Given the description of an element on the screen output the (x, y) to click on. 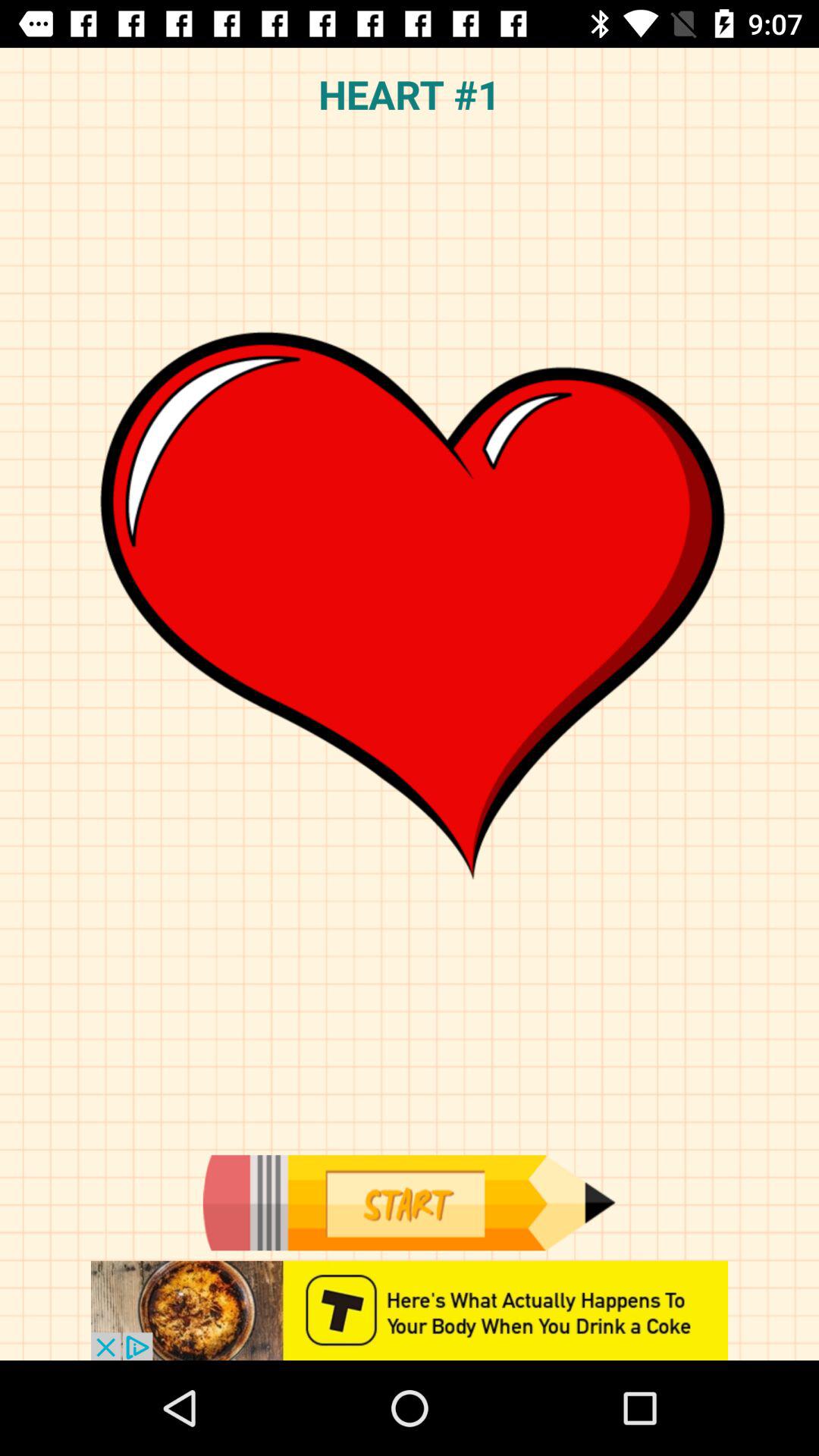
start option (409, 1202)
